Given the description of an element on the screen output the (x, y) to click on. 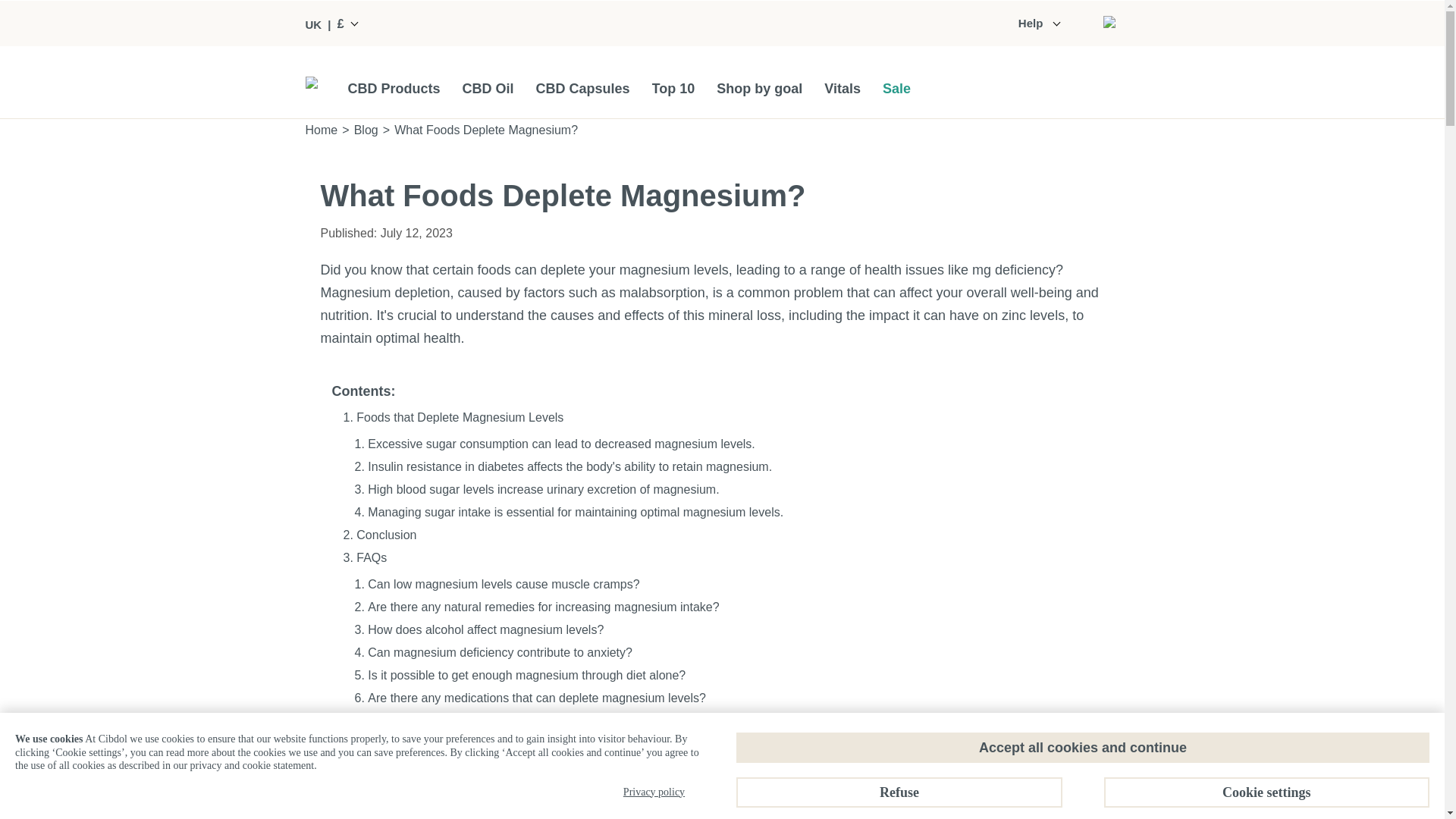
Shop by goal (759, 88)
Login or Register (1108, 23)
CBD Oil (488, 88)
CBD Capsules (582, 88)
CBD Products (393, 88)
Top 10 (673, 88)
